Given the description of an element on the screen output the (x, y) to click on. 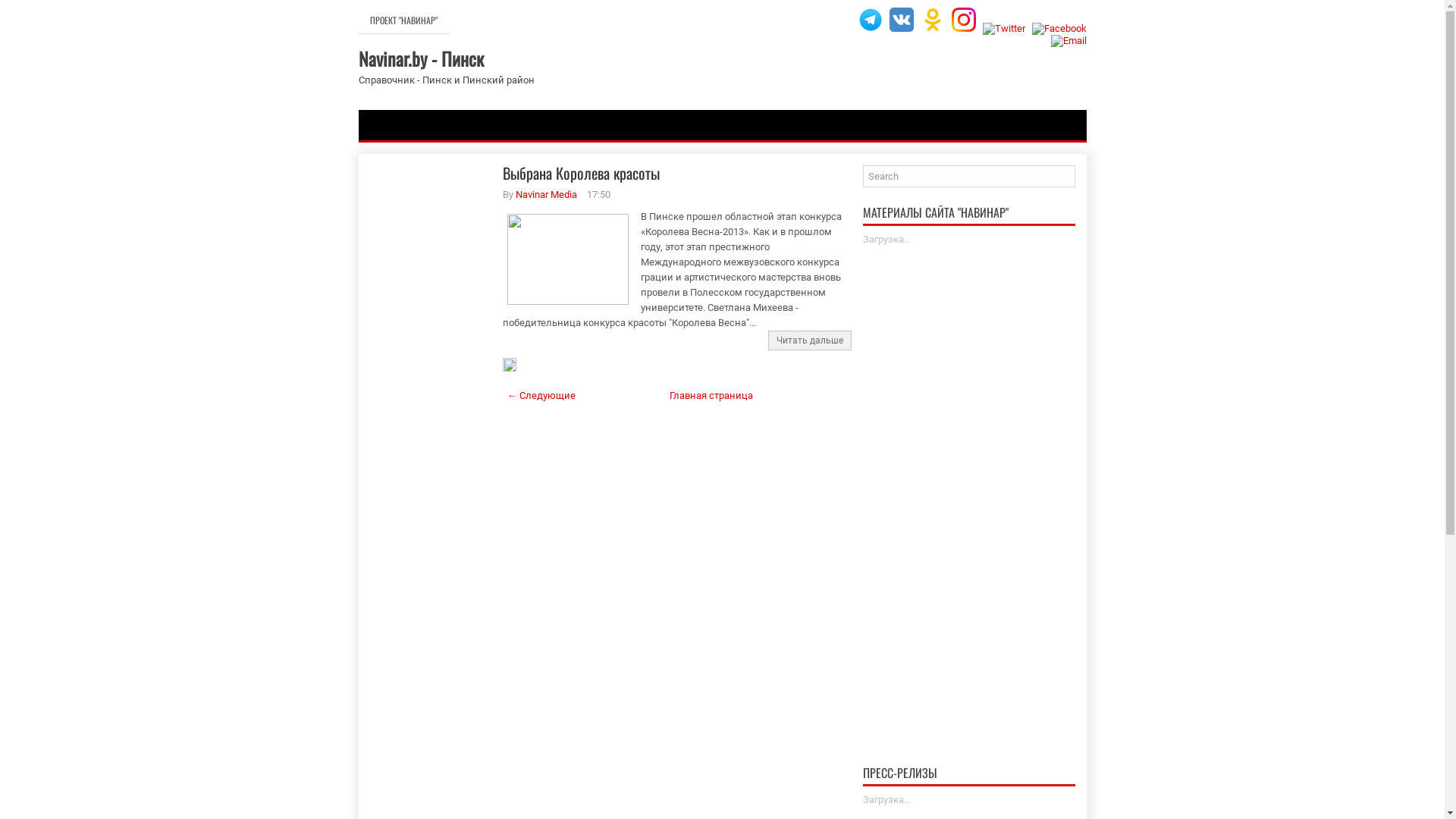
Facebook Element type: hover (1058, 28)
Type and hit enter Element type: hover (968, 176)
Odnoklassniki Element type: hover (932, 19)
Instaram Element type: hover (962, 19)
Advertisement Element type: hover (430, 403)
Navinar Media Element type: text (546, 194)
Telegram Element type: hover (870, 19)
Advertisement Element type: hover (968, 483)
Twitter Element type: hover (1003, 28)
VKontakte Element type: hover (900, 19)
Email Element type: hover (1068, 40)
